Given the description of an element on the screen output the (x, y) to click on. 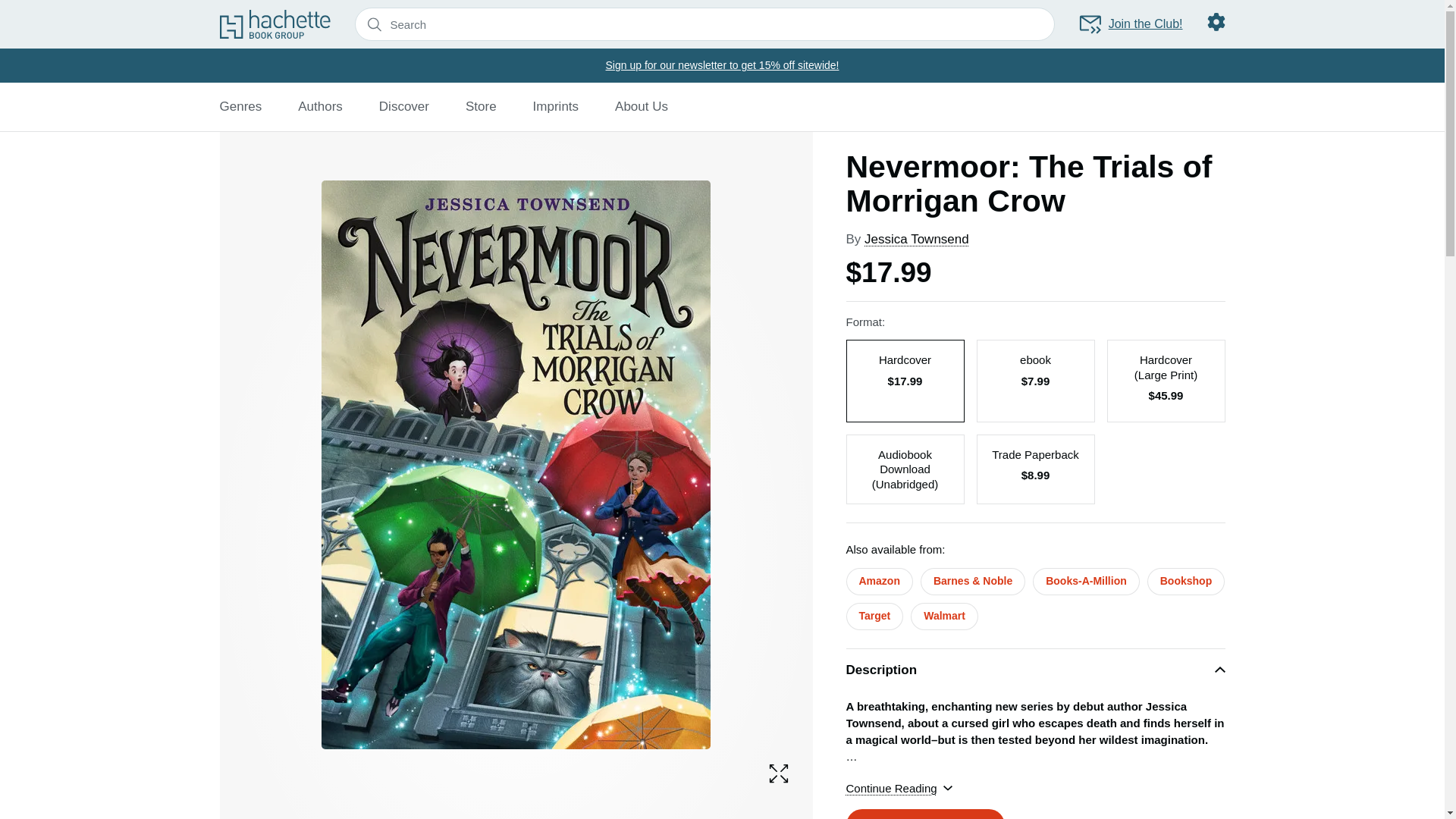
Genres (240, 106)
Join the Club! (1130, 24)
Go to Hachette Book Group home (274, 23)
